Given the description of an element on the screen output the (x, y) to click on. 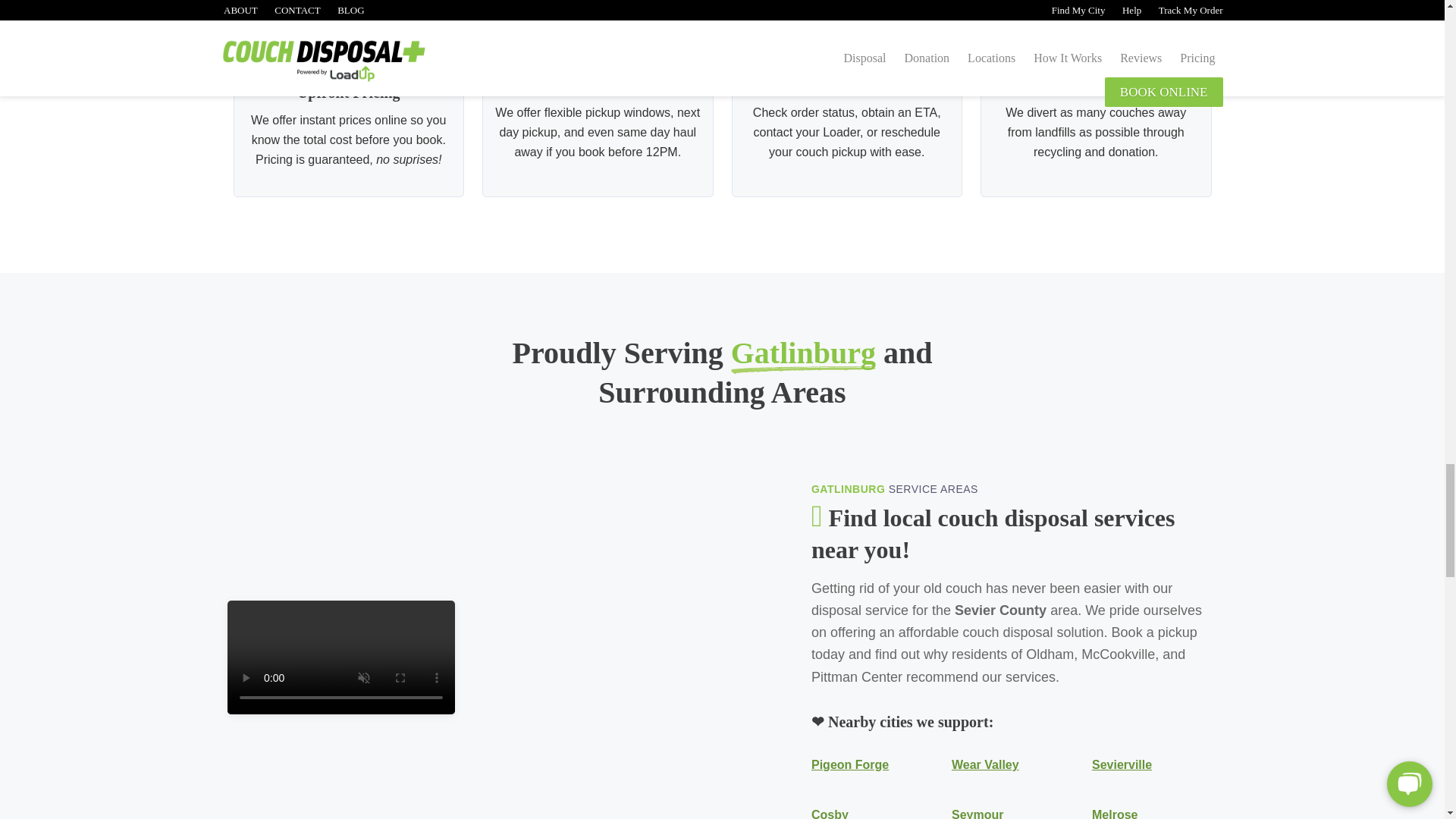
Seymour (977, 813)
Sevierville (1121, 764)
Pigeon Forge (849, 764)
Cosby (829, 813)
Wear Valley (985, 764)
Melrose (1114, 813)
